Given the description of an element on the screen output the (x, y) to click on. 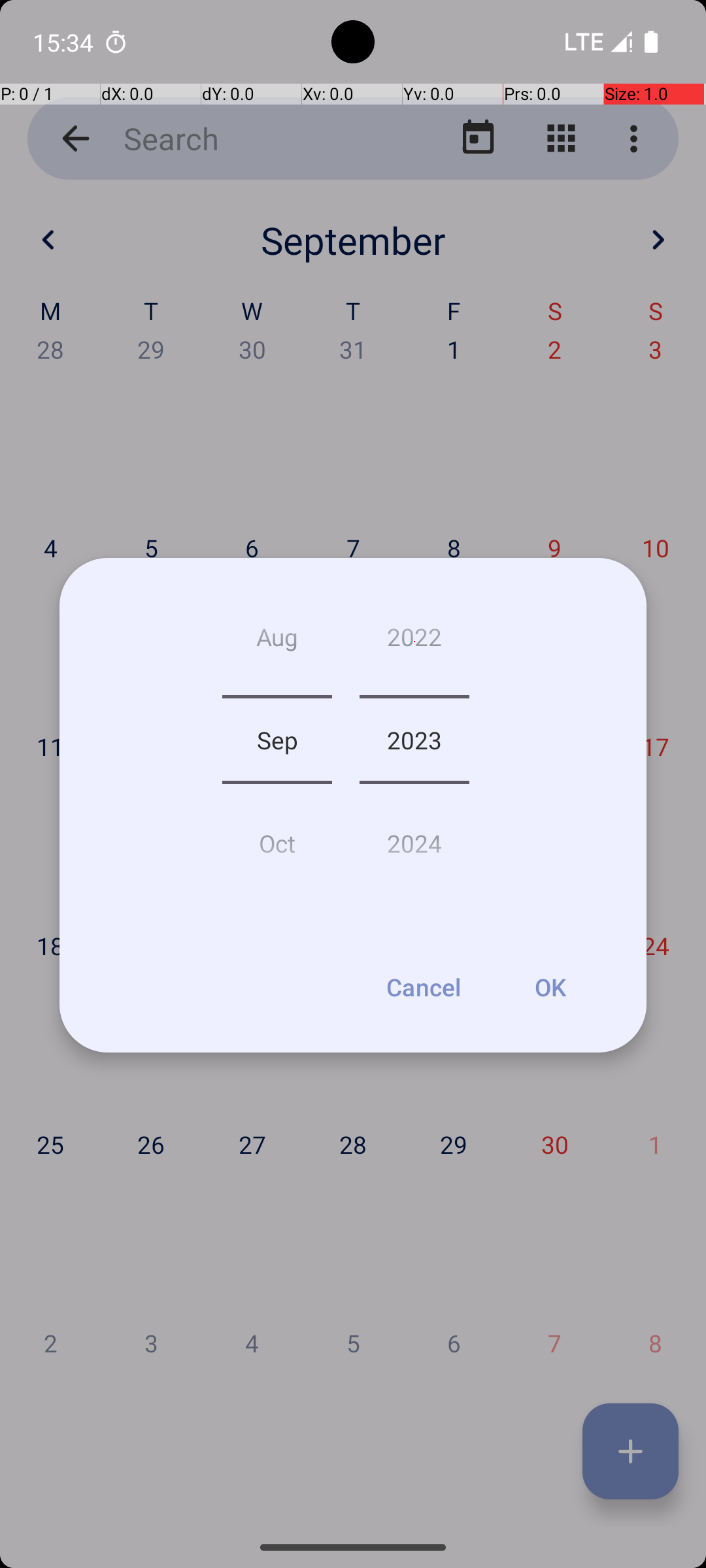
Aug Element type: android.widget.Button (277, 641)
